Given the description of an element on the screen output the (x, y) to click on. 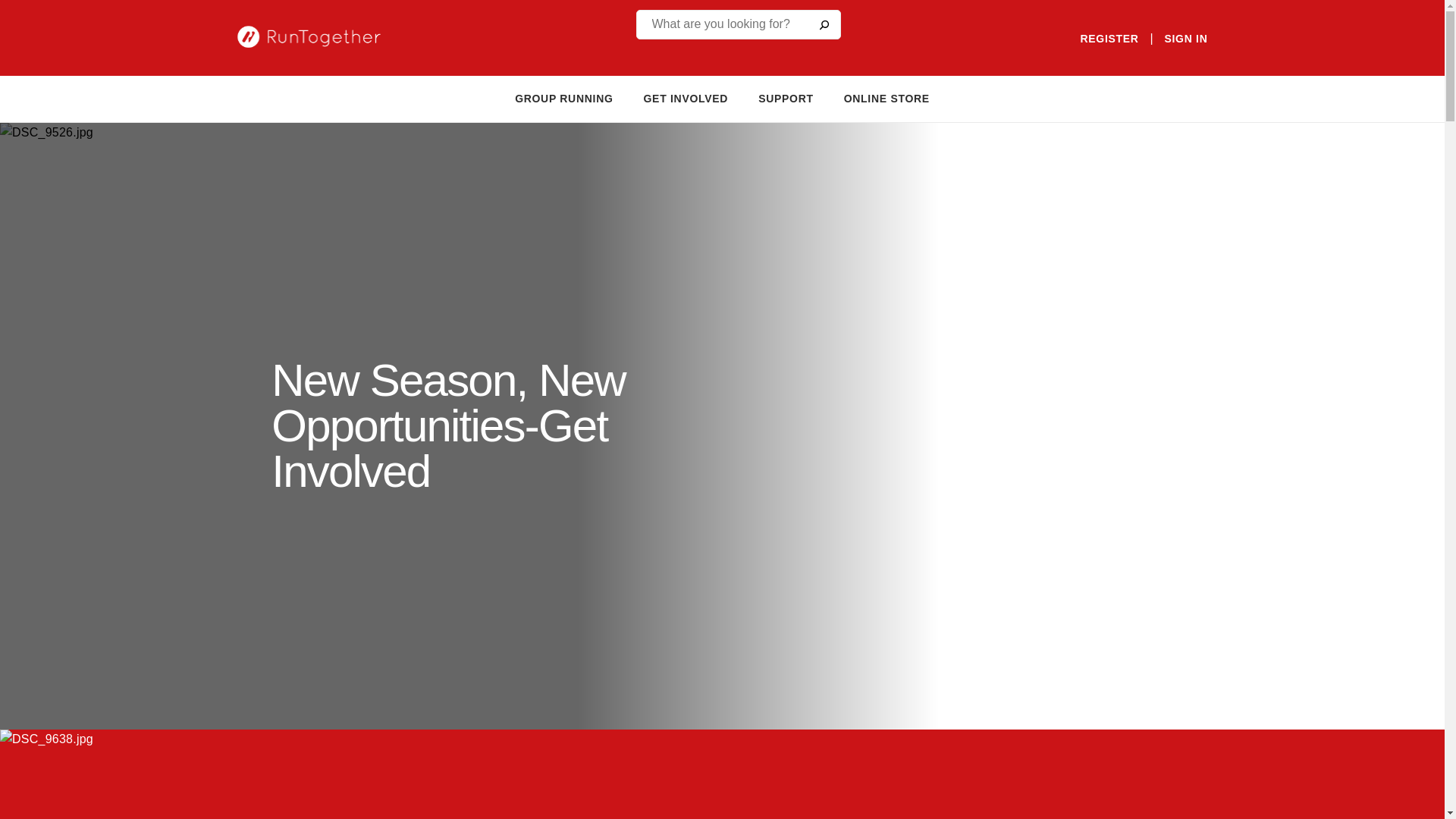
Go (823, 24)
REGISTER (1109, 39)
ONLINE STORE (887, 99)
SUPPORT (785, 99)
SIGN IN (1185, 39)
GET INVOLVED (686, 99)
GROUP RUNNING (563, 99)
